Given the description of an element on the screen output the (x, y) to click on. 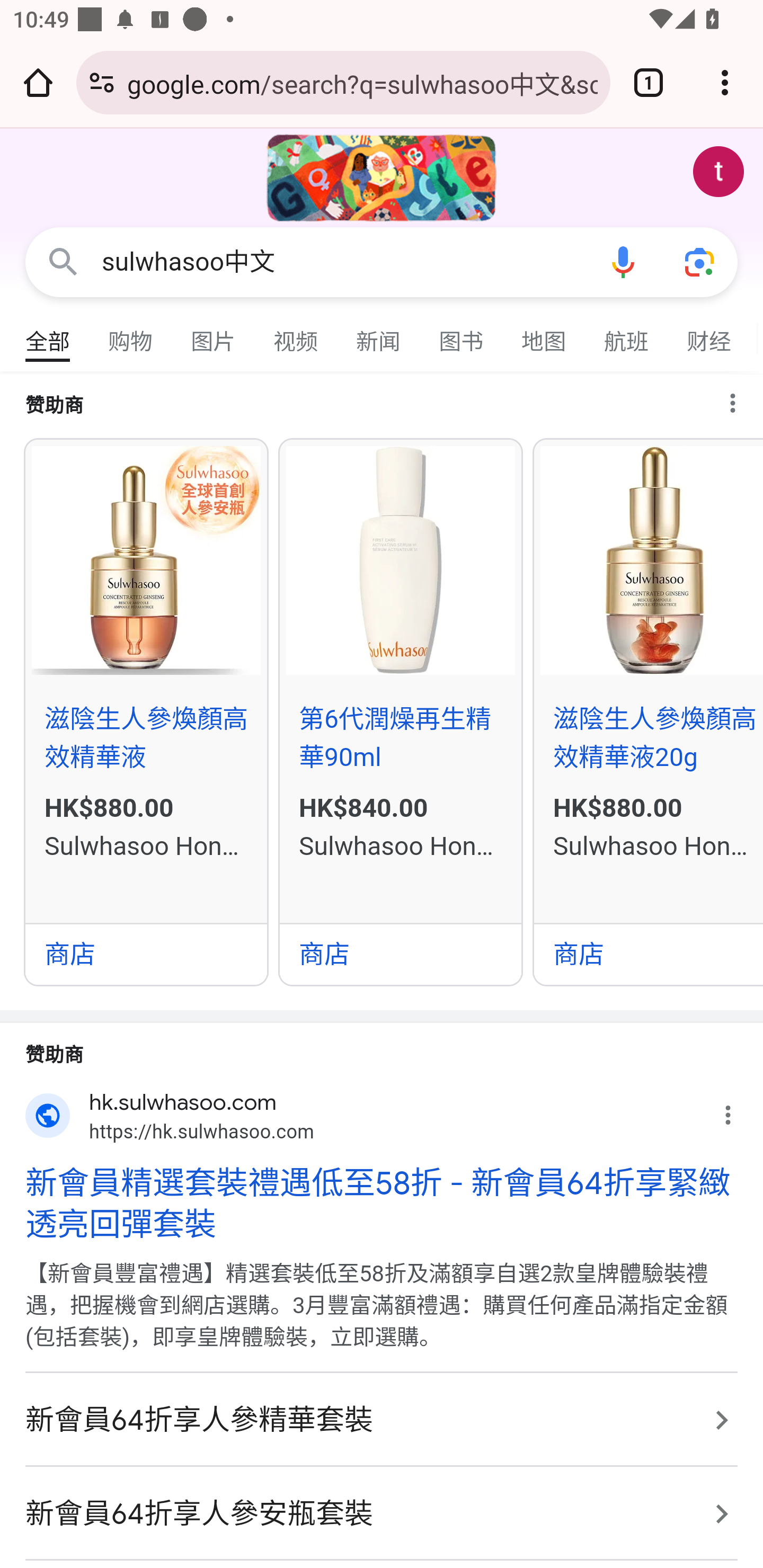
Open the home page (38, 82)
Connection is secure (101, 82)
Switch or close tabs (648, 82)
Customize and control Google Chrome (724, 82)
2024 年国际妇女节 (381, 177)
Google 账号： test appium (testappium002@gmail.com) (718, 171)
Google 搜索 (63, 262)
使用拍照功能或照片进行搜索 (699, 262)
sulwhasoo中文 (343, 261)
购物 (131, 333)
图片 (213, 333)
视频 (296, 333)
新闻 (379, 333)
图书 (461, 333)
地图 (544, 333)
航班 (627, 333)
财经 (709, 333)
为什么会显示该广告？ (740, 398)
商店 商店 商店 (146, 952)
商店 商店 商店 (400, 952)
商店 商店 商店 (648, 952)
为什么会显示该广告？ (738, 1110)
新會員精選套裝禮遇低至58折 - 新會員64折享緊緻透亮回彈套裝 (381, 1203)
新會員64折享人參精華套裝 (381, 1419)
新會員64折享人參安瓶套裝 (381, 1513)
